Given the description of an element on the screen output the (x, y) to click on. 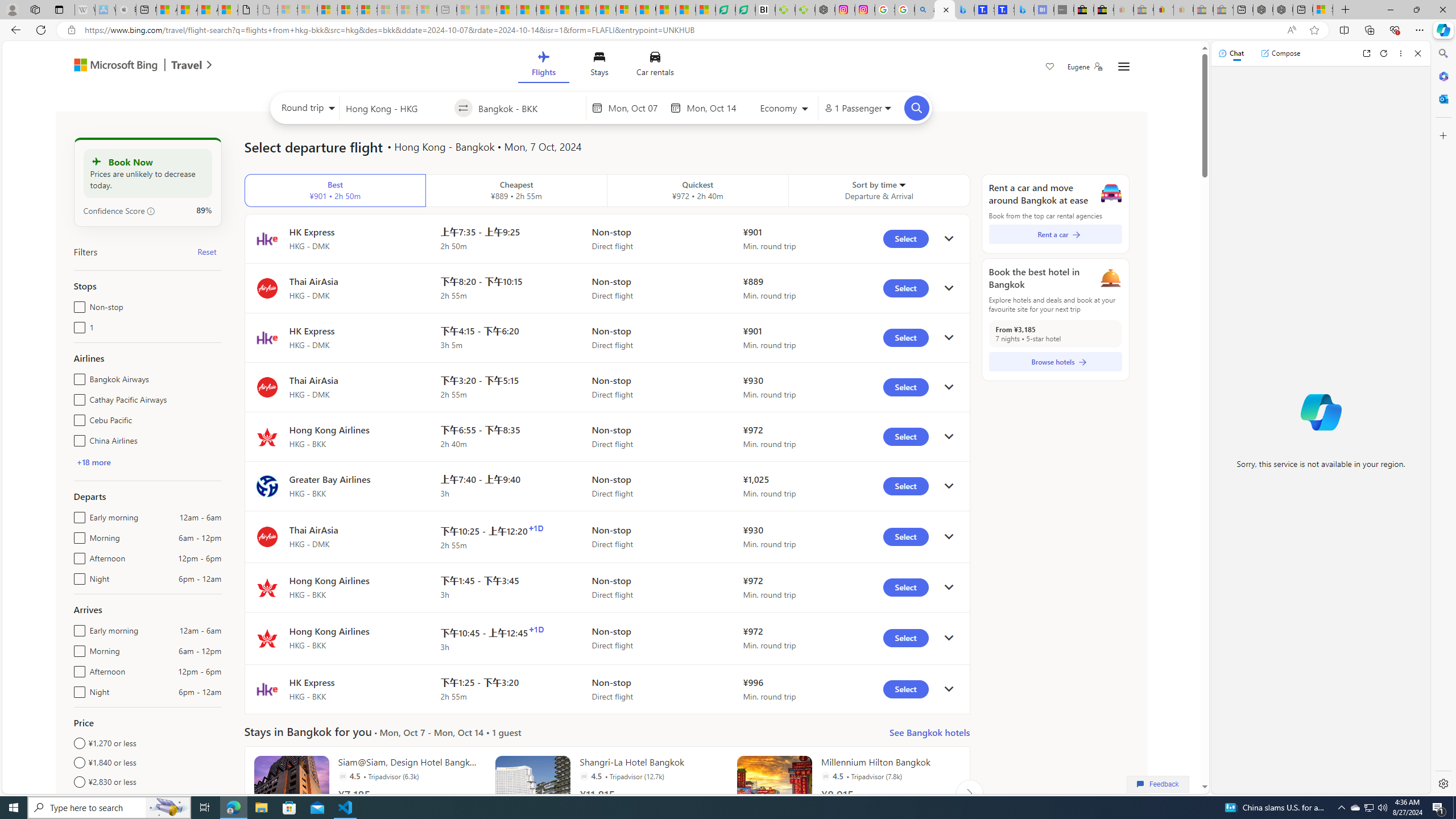
alabama high school quarterback dies - Search (924, 9)
Save (1049, 67)
Chat (1231, 52)
Info tooltip (151, 211)
Microsoft Bing Travel - Flights from Hong Kong to Bangkok (944, 9)
1 (76, 325)
